Given the description of an element on the screen output the (x, y) to click on. 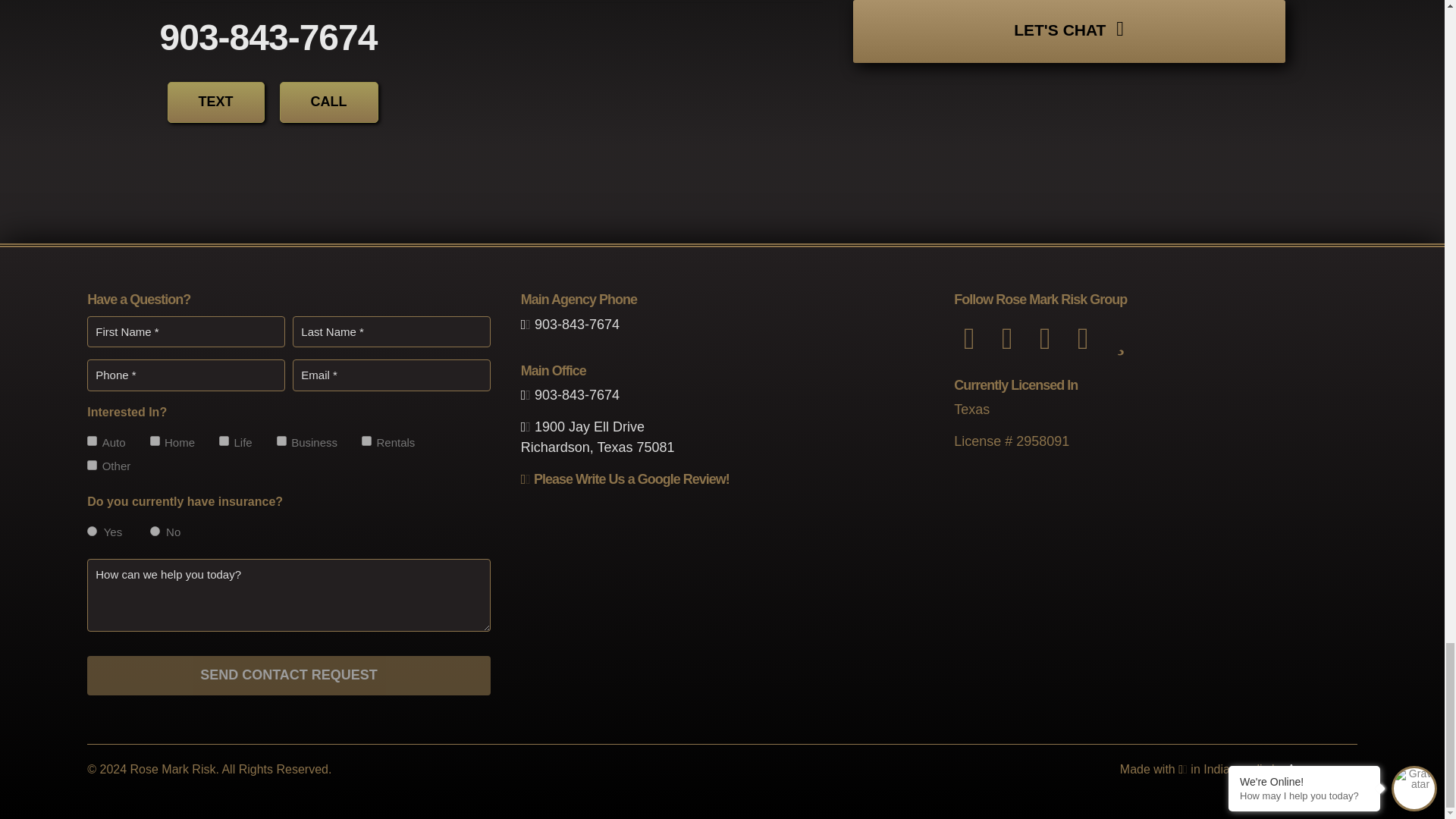
Business (281, 440)
Auto (92, 440)
Rentals (366, 440)
Home (154, 440)
Life (223, 440)
